Given the description of an element on the screen output the (x, y) to click on. 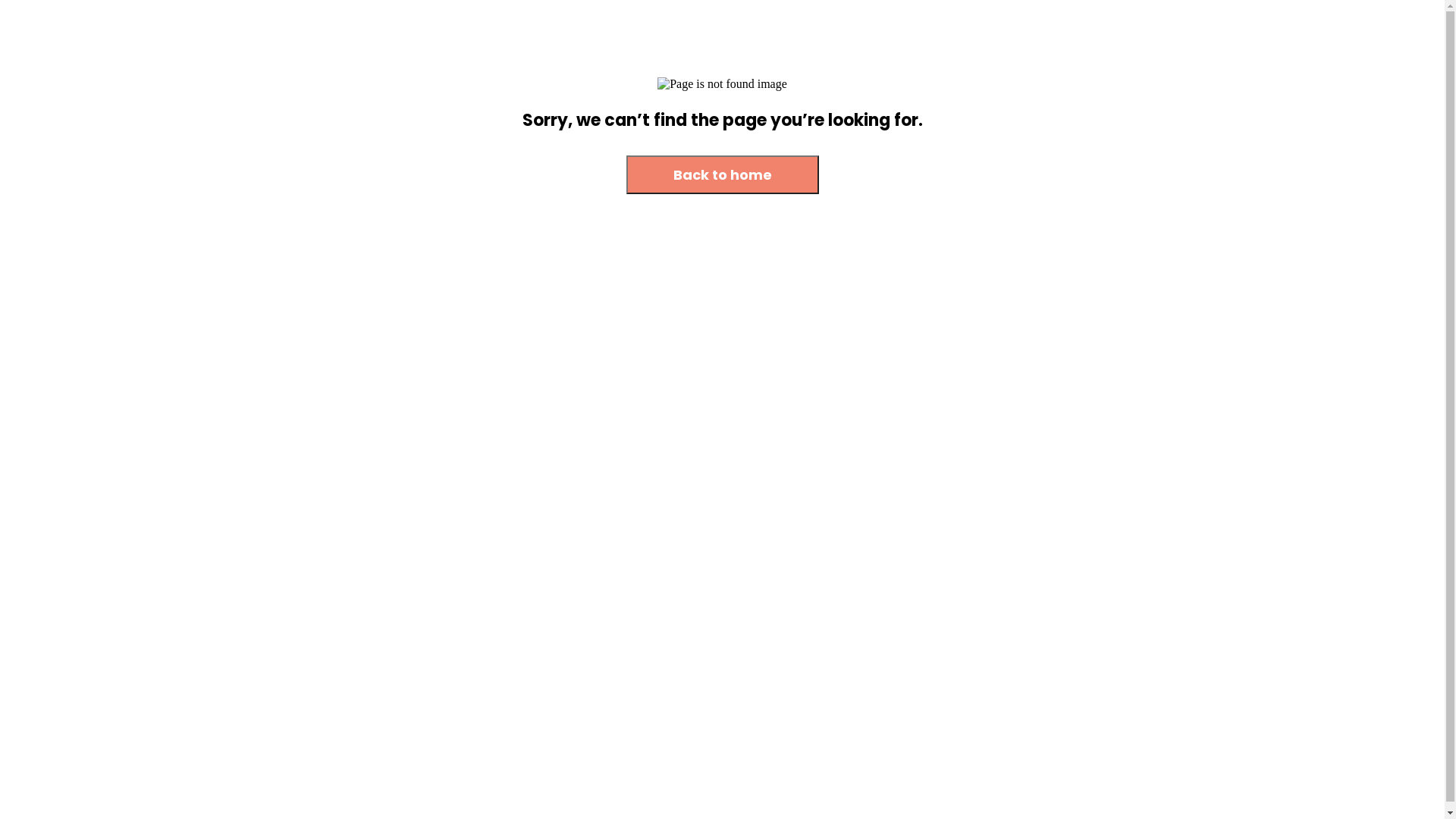
Back to home Element type: text (722, 175)
Back to home Element type: text (722, 174)
